Given the description of an element on the screen output the (x, y) to click on. 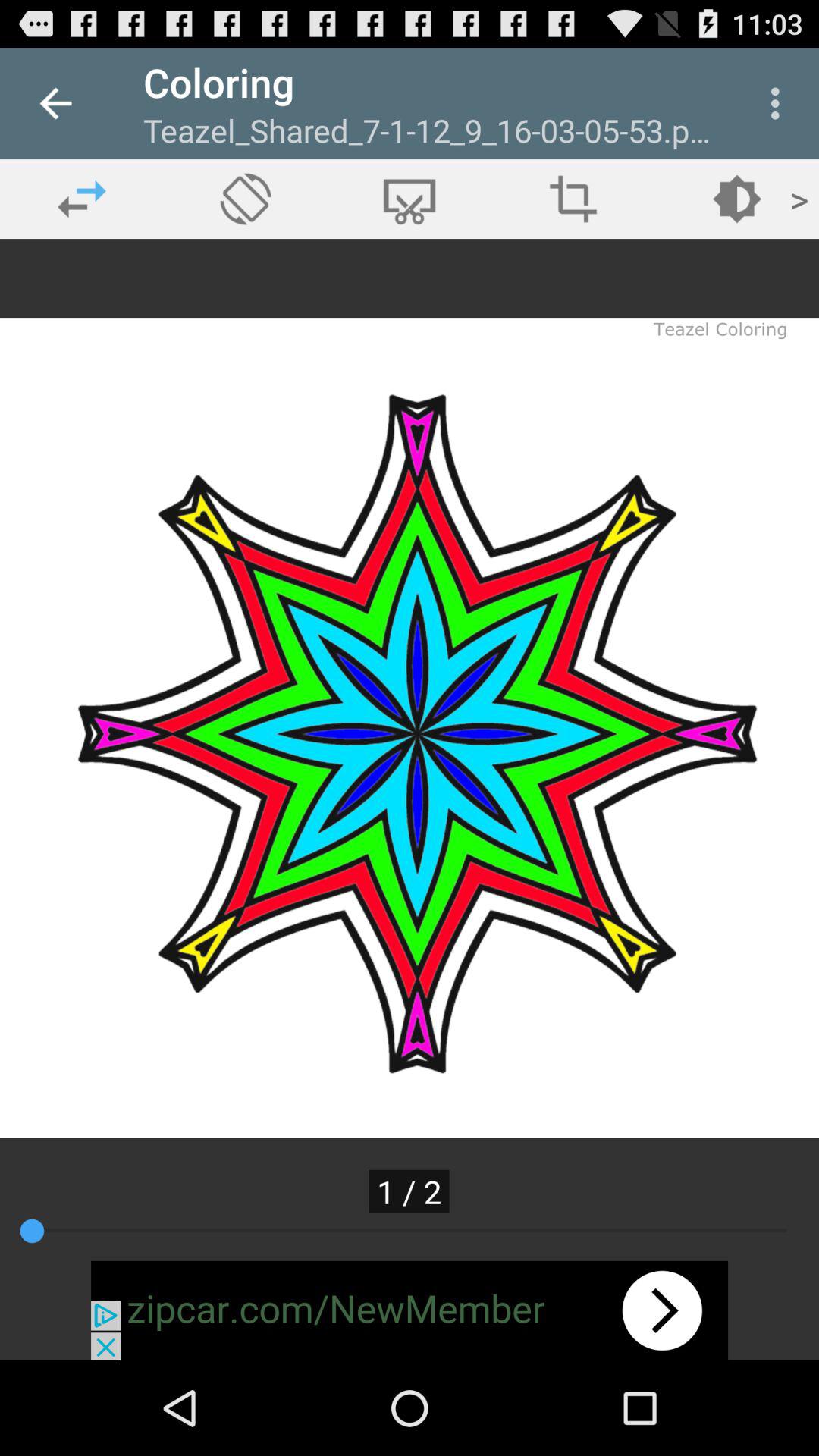
rotate button (245, 198)
